Given the description of an element on the screen output the (x, y) to click on. 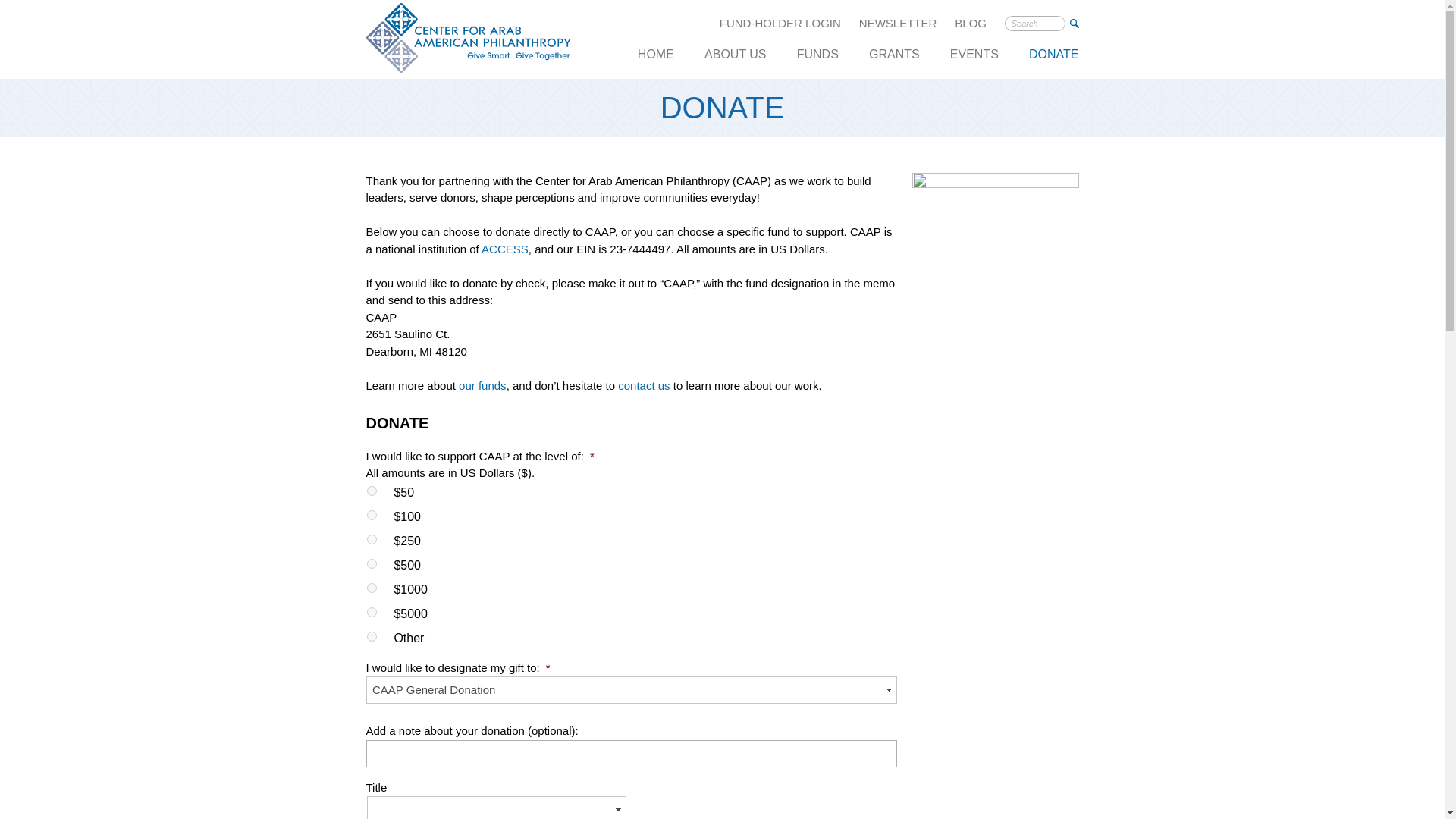
Search (1073, 22)
Search (1073, 22)
GRANTS (894, 60)
HOME (655, 60)
FUNDS (817, 60)
FUND-HOLDER LOGIN (780, 23)
BLOG (969, 23)
NEWSLETTER (898, 23)
ABOUT US (735, 60)
Center for Arab American Philanthropy (467, 38)
